Given the description of an element on the screen output the (x, y) to click on. 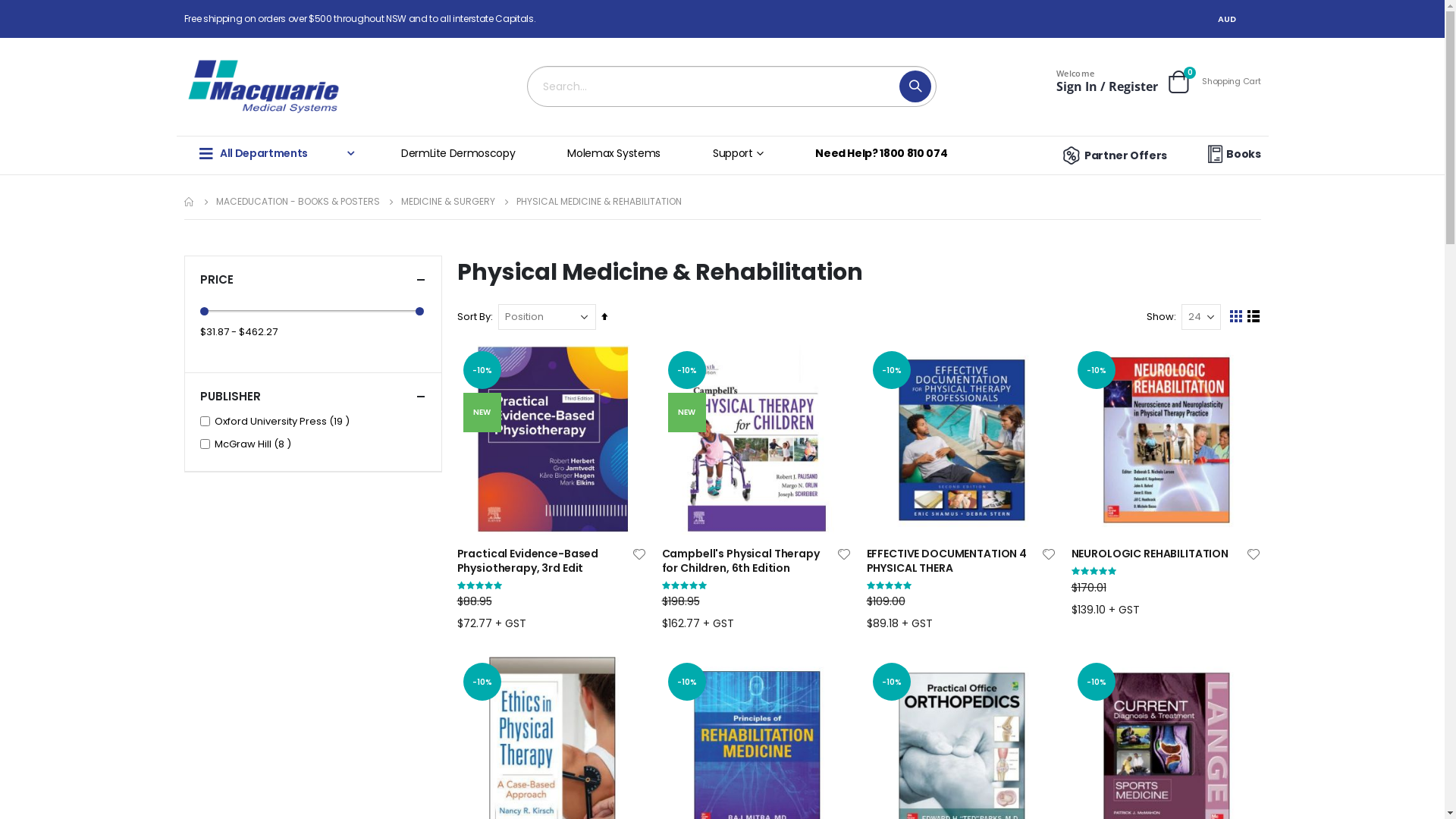
Support Element type: text (742, 154)
MACEDUCATION - BOOKS & POSTERS Element type: text (297, 201)
HOME Element type: text (188, 201)
List Element type: text (1252, 317)
Set Descending Direction Element type: text (603, 316)
Oxford University Press 19
items Element type: text (283, 421)
Add to Wish List Element type: hover (1048, 553)
Molemax Systems Element type: text (618, 154)
Need Help? 1800 810 074 Element type: text (885, 154)
Sign In Element type: text (1076, 86)
Search Element type: hover (915, 86)
Add to Wish List Element type: hover (843, 553)
Campbell's Physical Therapy for Children, 6th Edition Element type: text (748, 560)
Practical Evidence-Based Physiotherapy, 3rd Edit Element type: text (543, 560)
Cart
0
items Element type: text (1178, 81)
NEUROLOGIC REHABILITATION Element type: text (1157, 553)
DermLite Dermoscopy Element type: text (462, 154)
Partner Offers Element type: text (1112, 155)
Register Element type: text (1132, 86)
McGraw Hill 8
items Element type: text (254, 444)
MEDICINE & SURGERY Element type: text (447, 201)
EFFECTIVE DOCUMENTATION 4 PHYSICAL THERA Element type: text (953, 560)
Add to Wish List Element type: hover (638, 553)
Shopping Cart Element type: text (1230, 81)
MMS Element type: hover (268, 86)
Add to Wish List Element type: hover (1253, 553)
Books Element type: text (1231, 153)
